Given the description of an element on the screen output the (x, y) to click on. 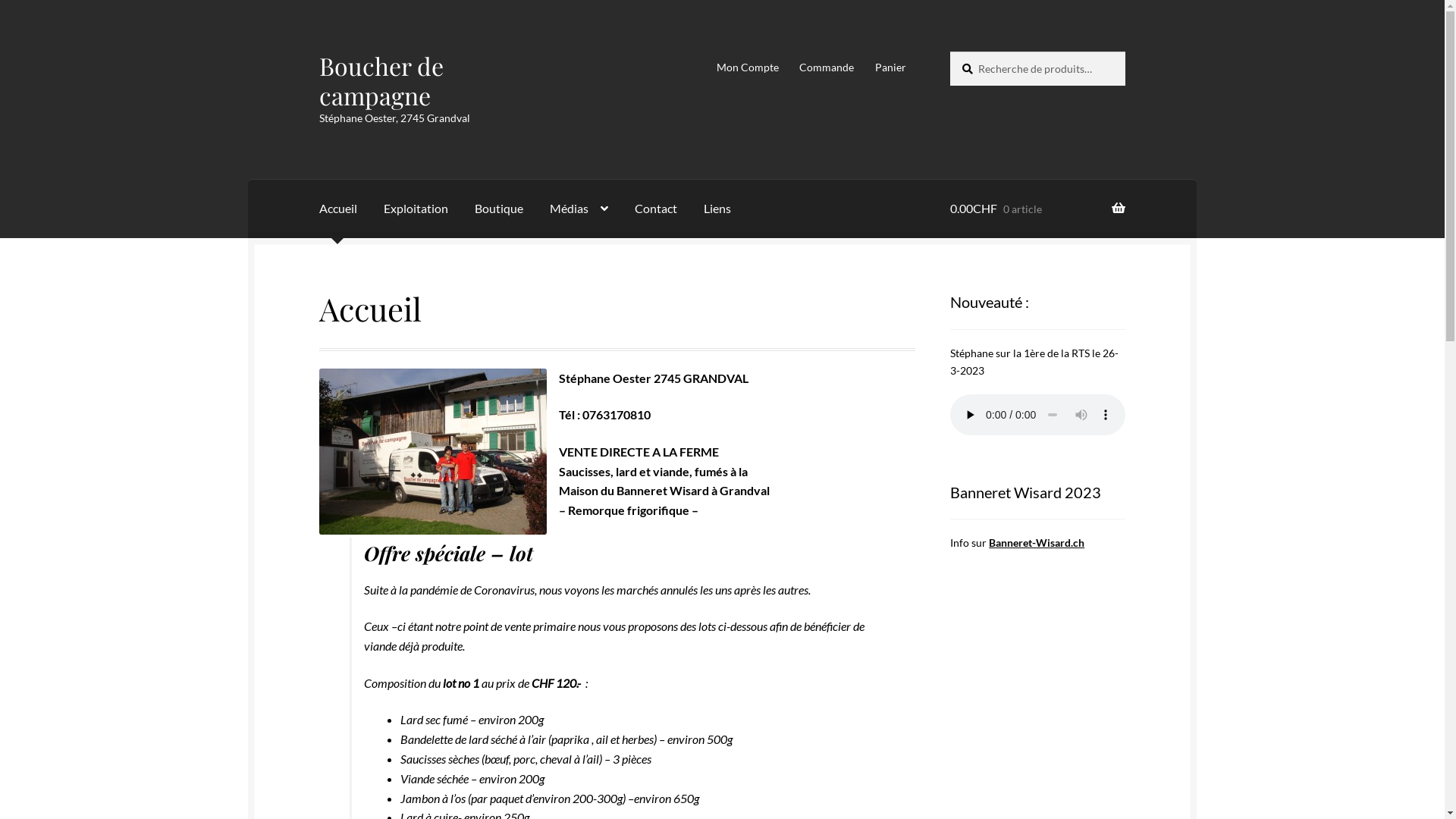
Accueil Element type: text (338, 208)
Liens Element type: text (717, 208)
Boutique Element type: text (498, 208)
Recherche Element type: text (949, 50)
Boucher de campagne Element type: text (381, 80)
Panier Element type: text (890, 67)
Exploitation Element type: text (415, 208)
Mon Compte Element type: text (746, 67)
Contact Element type: text (655, 208)
0.00CHF 0 article Element type: text (1037, 208)
Banneret-Wisard.ch Element type: text (1036, 542)
Commande Element type: text (826, 67)
